Given the description of an element on the screen output the (x, y) to click on. 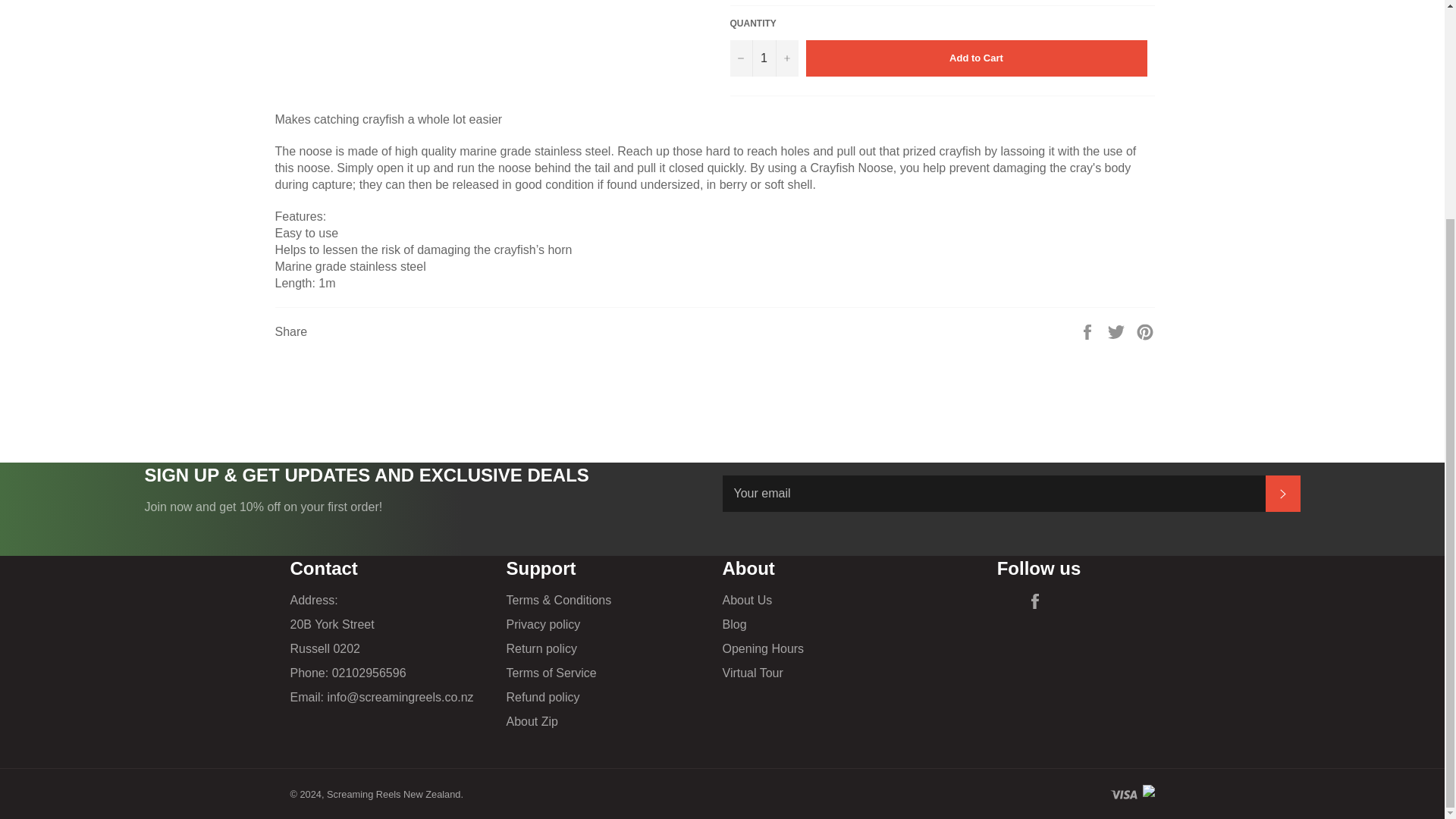
Share on Facebook (1088, 330)
Pin on Pinterest (1144, 330)
Tweet on Twitter (1117, 330)
Screaming Reels New Zealand on Facebook (1038, 601)
1 (763, 58)
